Given the description of an element on the screen output the (x, y) to click on. 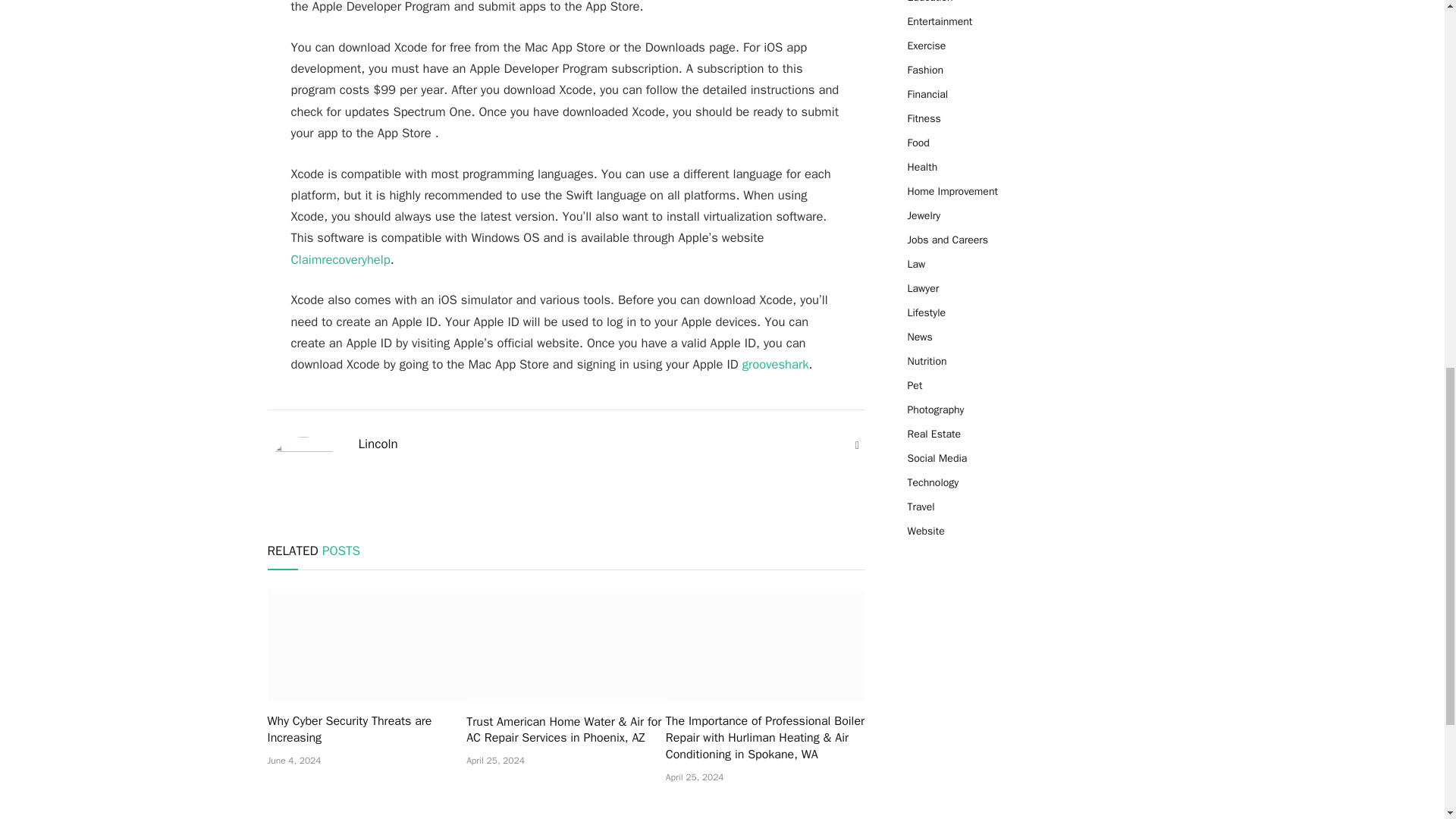
Why Cyber Security Threats are Increasing (365, 729)
Posts by Lincoln (377, 444)
Lincoln (377, 444)
Website (856, 445)
grooveshark (775, 364)
Why Cyber Security Threats are Increasing (365, 645)
Claimrecoveryhelp (340, 259)
Website (856, 445)
